Given the description of an element on the screen output the (x, y) to click on. 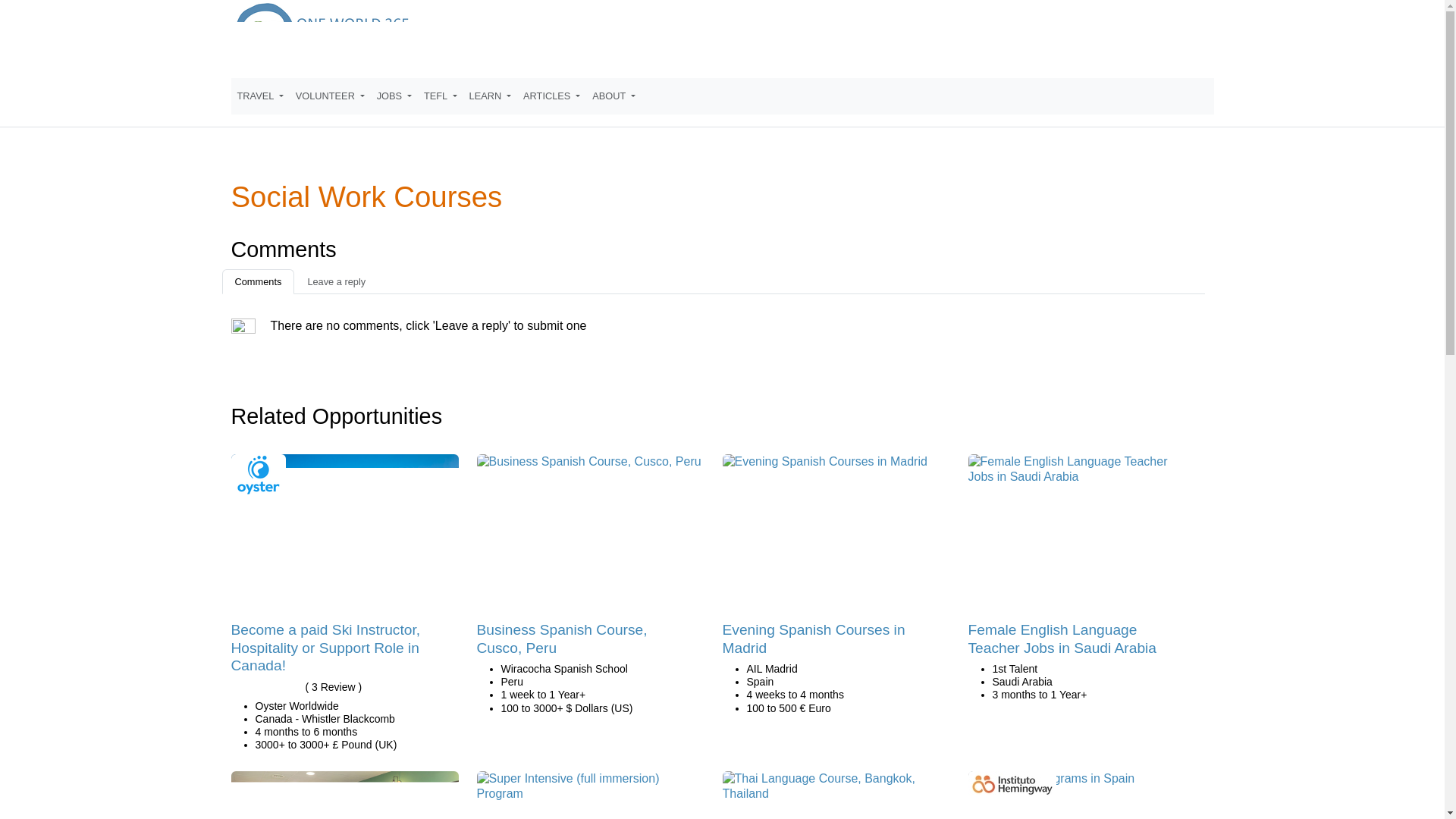
TEFL (440, 96)
TRAVEL (259, 96)
VOLUNTEER (330, 96)
JOBS (394, 96)
